Given the description of an element on the screen output the (x, y) to click on. 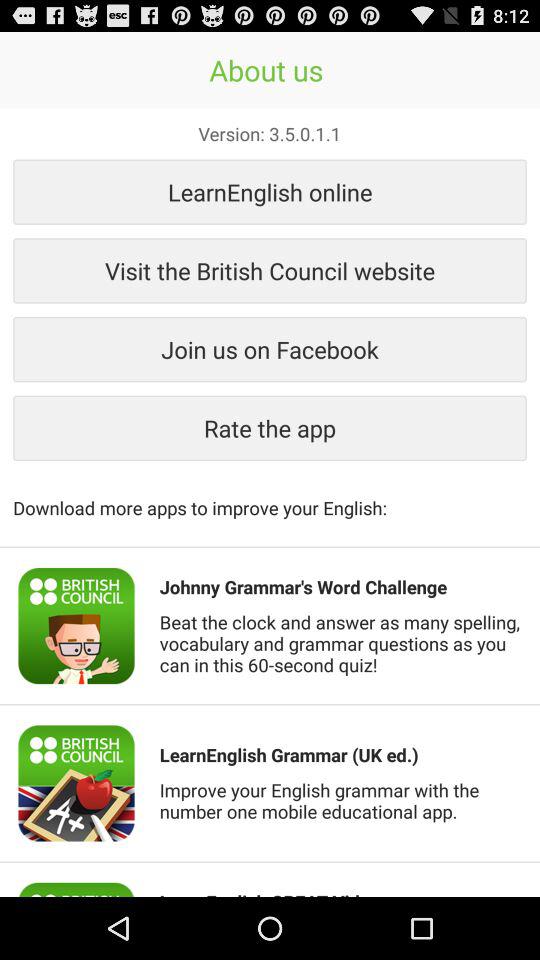
turn on download more apps (269, 497)
